Given the description of an element on the screen output the (x, y) to click on. 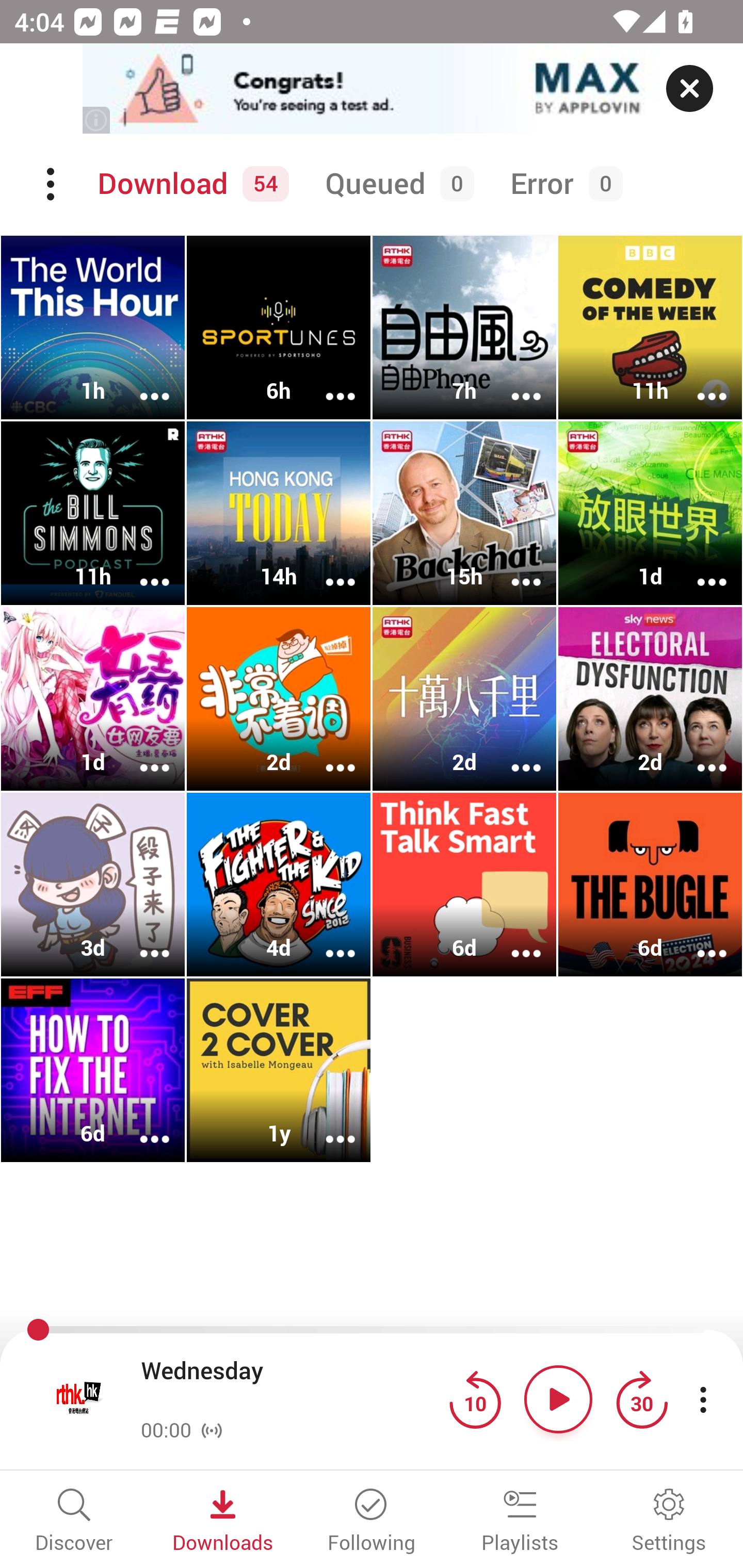
app-monetization (371, 88)
(i) (96, 119)
Menu (52, 184)
 Download 54 (189, 184)
 Queued 0 (396, 184)
 Error 0 (562, 184)
The World This Hour 1h More options More options (92, 327)
Sportunes HK 6h More options More options (278, 327)
自由风自由PHONE 7h More options More options (464, 327)
Comedy of the Week 11h More options More options (650, 327)
More options (141, 382)
More options (326, 382)
More options (512, 382)
More options (698, 382)
Hong Kong Today 14h More options More options (278, 513)
Backchat 15h More options More options (464, 513)
放眼世界 1d More options More options (650, 513)
More options (141, 569)
More options (326, 569)
More options (512, 569)
More options (698, 569)
女王有药丨爆笑脱口秀 1d More options More options (92, 698)
非常不着调 2d More options More options (278, 698)
十萬八千里 2d More options More options (464, 698)
Electoral Dysfunction 2d More options More options (650, 698)
More options (141, 754)
More options (326, 754)
More options (512, 754)
More options (698, 754)
段子来了 3d More options More options (92, 883)
The Fighter & The Kid 4d More options More options (278, 883)
The Bugle 6d More options More options (650, 883)
More options (141, 940)
More options (326, 940)
More options (512, 940)
More options (698, 940)
Cover 2 Cover 1y More options More options (278, 1069)
More options (141, 1125)
More options (326, 1125)
Open fullscreen player (79, 1399)
More player controls (703, 1399)
Wednesday (290, 1385)
Play button (558, 1398)
Jump back (475, 1399)
Jump forward (641, 1399)
Discover (74, 1521)
Downloads (222, 1521)
Following (371, 1521)
Playlists (519, 1521)
Settings (668, 1521)
